Given the description of an element on the screen output the (x, y) to click on. 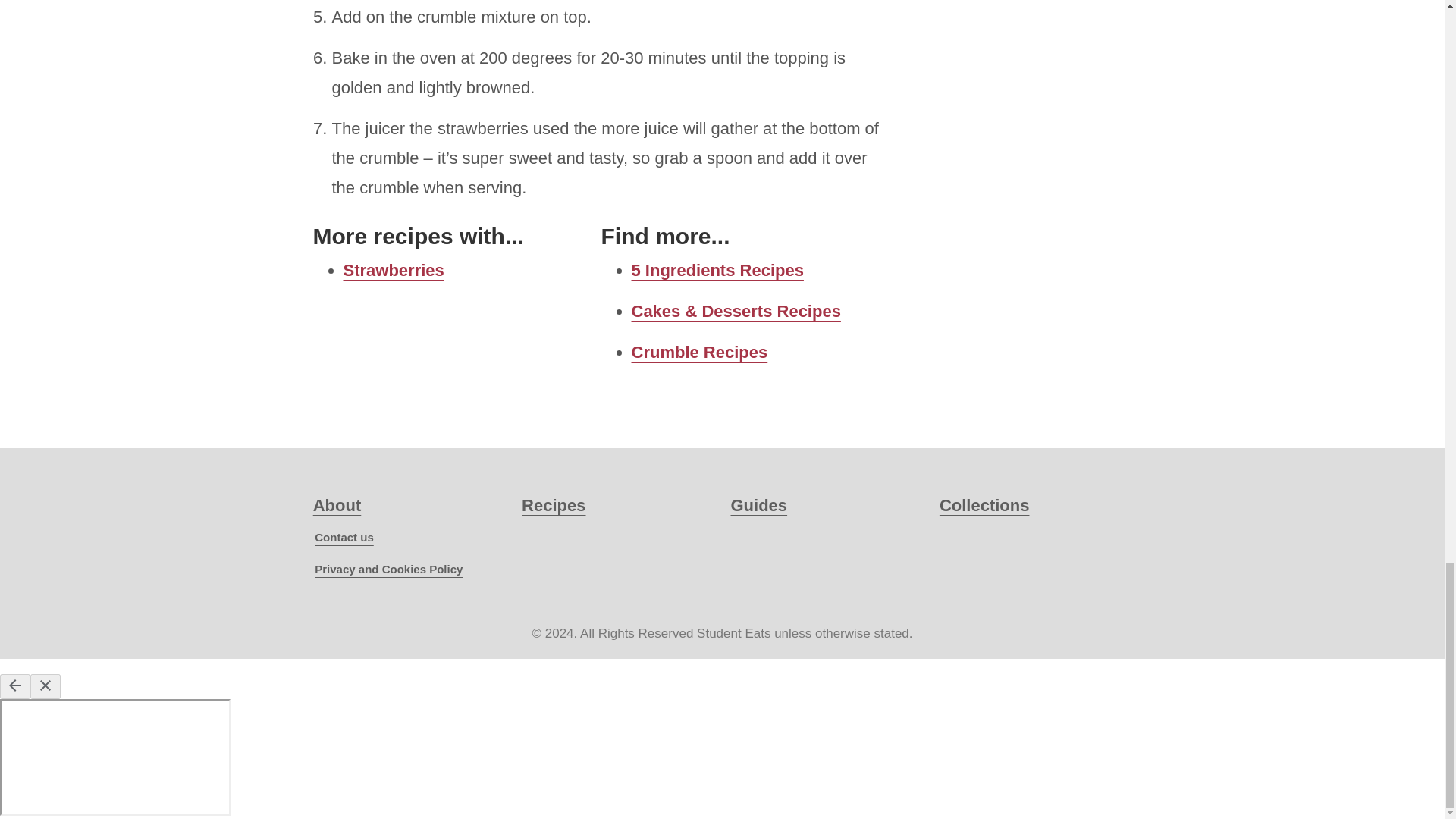
5 Ingredients Recipes (716, 270)
Guides (758, 505)
About (337, 505)
Strawberries (393, 270)
Collections (984, 505)
Contact us (344, 536)
Crumble Recipes (698, 352)
Privacy and Cookies Policy (388, 568)
Recipes (553, 505)
